Given the description of an element on the screen output the (x, y) to click on. 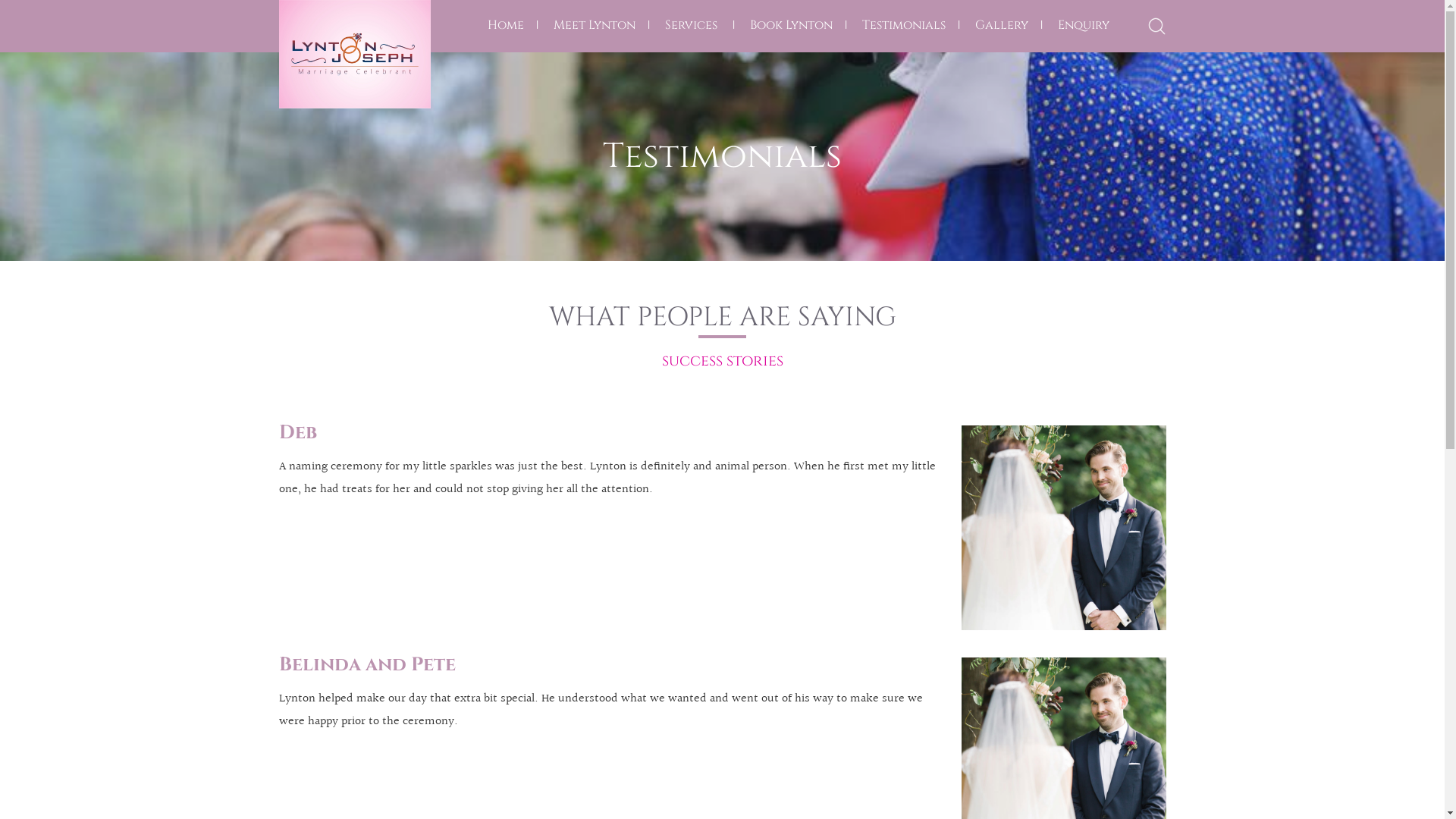
Book Lynton Element type: text (790, 24)
Enquiry Element type: text (1082, 24)
Services Element type: text (690, 24)
Search Element type: text (913, 410)
Meet Lynton Element type: text (594, 24)
Home Element type: text (504, 24)
Testimonials Element type: text (902, 24)
Gallery Element type: text (1001, 24)
